Given the description of an element on the screen output the (x, y) to click on. 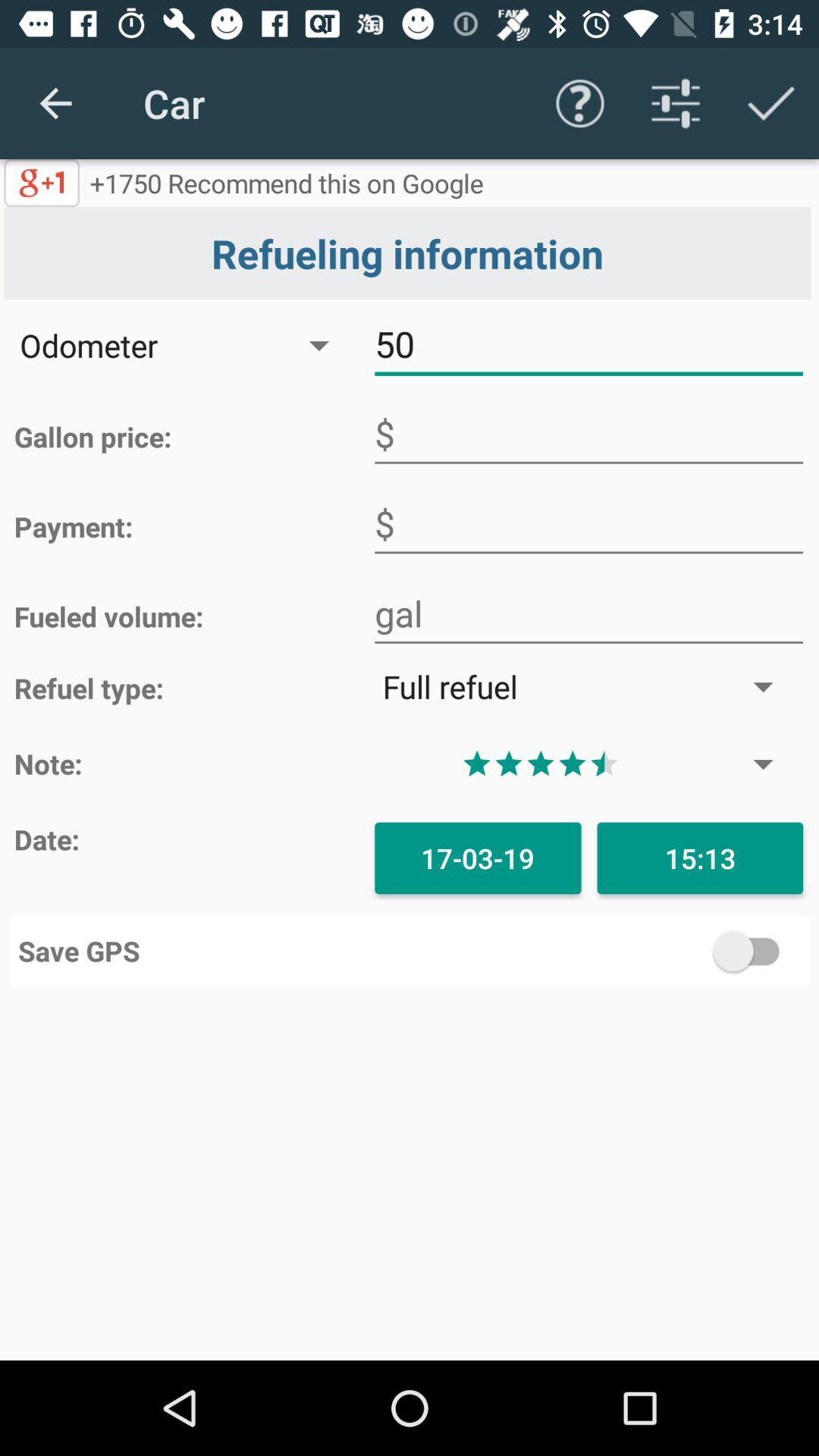
turn off the item next to gallon price: icon (588, 434)
